Given the description of an element on the screen output the (x, y) to click on. 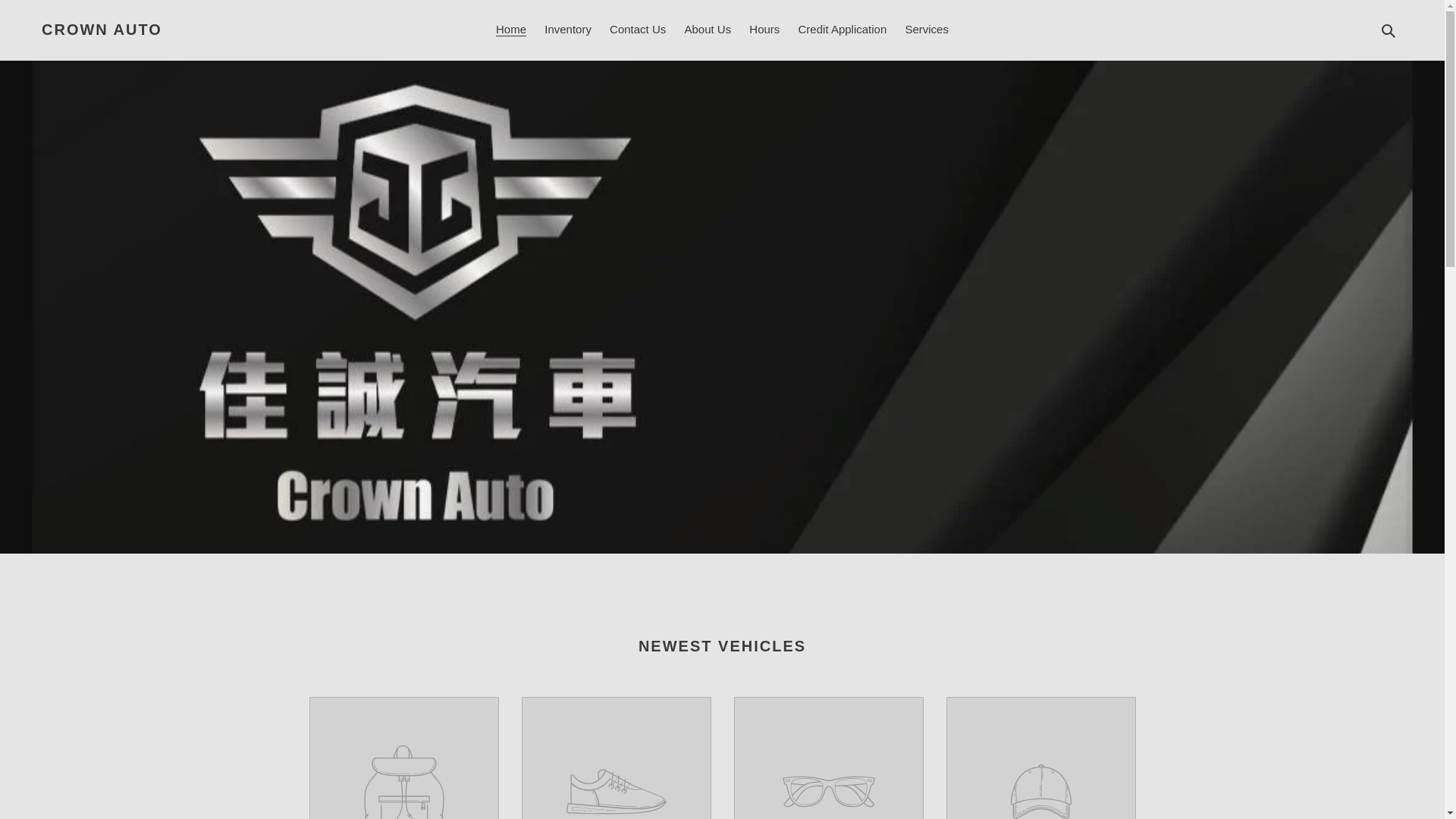
Home (510, 29)
Inventory (567, 29)
Credit Application (842, 29)
Your product's name (403, 757)
Your product's name (1040, 757)
Services (926, 29)
Contact Us (637, 29)
Hours (764, 29)
Your product's name (616, 757)
About Us (707, 29)
